Given the description of an element on the screen output the (x, y) to click on. 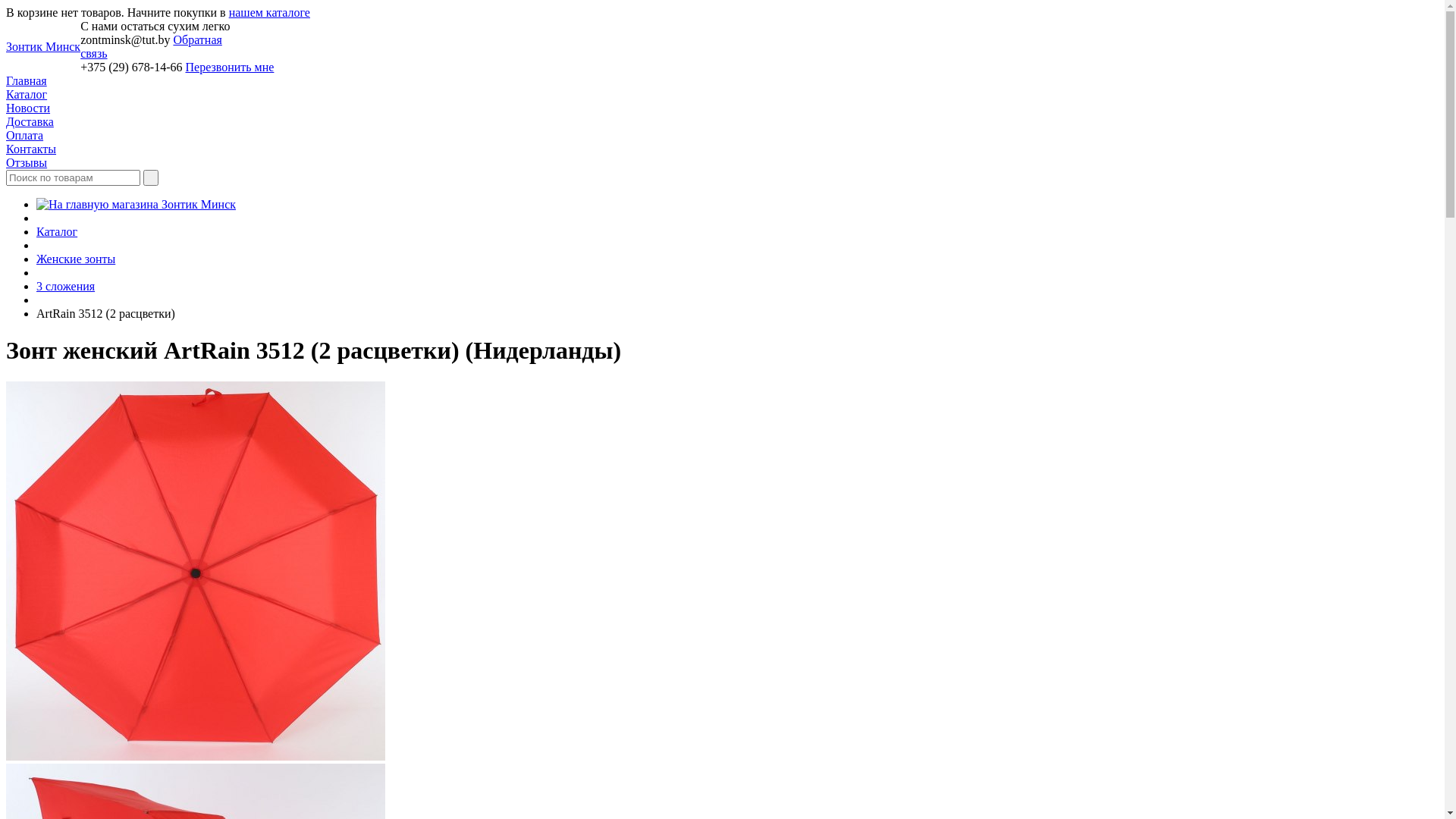
  Element type: text (150, 177)
